Given the description of an element on the screen output the (x, y) to click on. 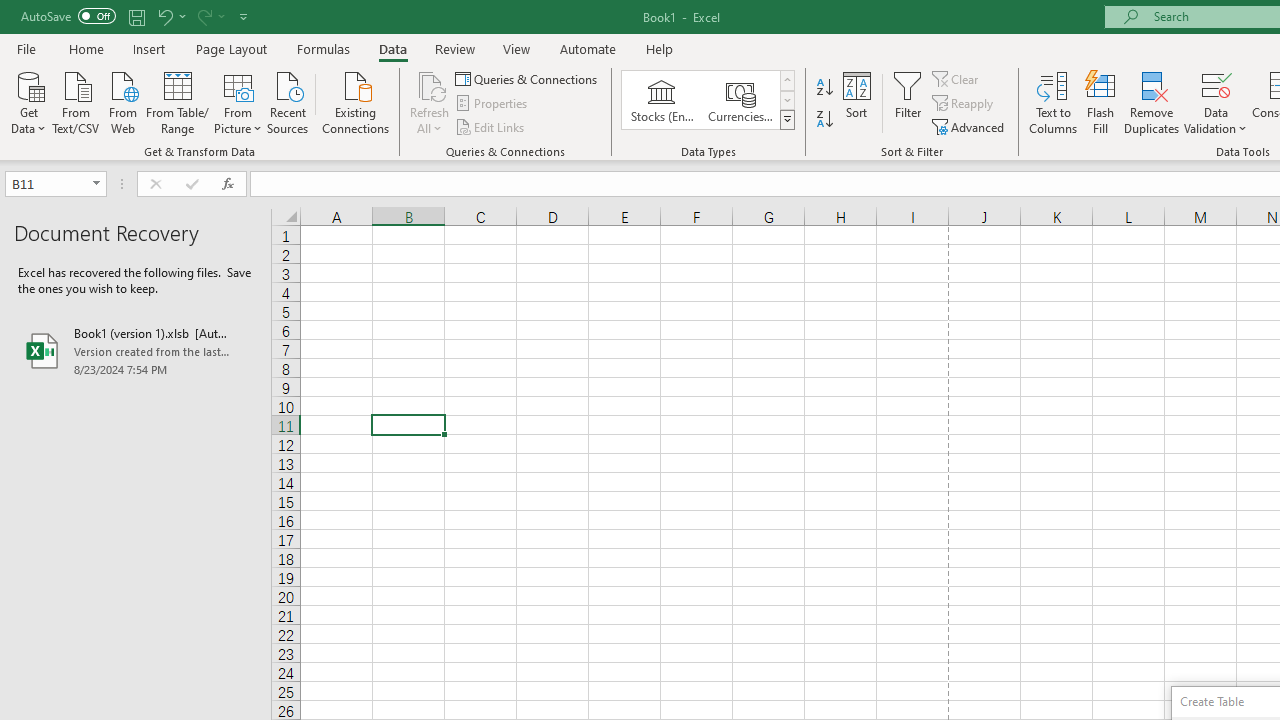
Edit Links (491, 126)
Currencies (English) (740, 100)
Stocks (English) (662, 100)
Sort A to Z (824, 87)
From Web (122, 101)
Book1 (version 1).xlsb  [AutoRecovered] (136, 350)
Reapply (964, 103)
Quick Access Toolbar (136, 16)
Clear (957, 78)
AutoSave (68, 16)
From Text/CSV (75, 101)
Row up (786, 79)
Sort... (856, 102)
